Given the description of an element on the screen output the (x, y) to click on. 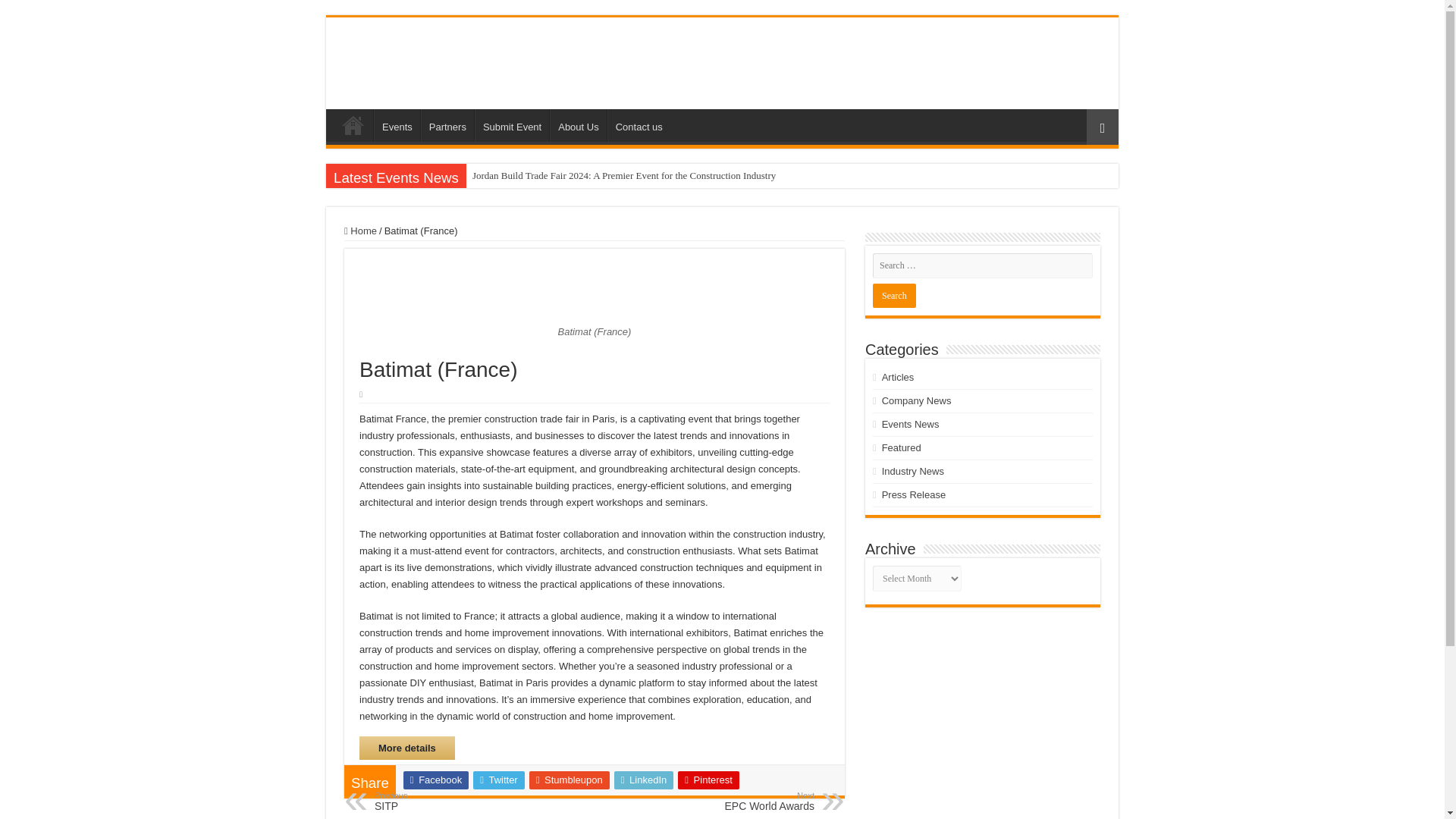
Contact us (638, 124)
Search (893, 295)
Home (352, 124)
More details (406, 748)
Featured (901, 447)
Events News (910, 423)
Stumbleupon (569, 780)
Home (360, 230)
Submit Event (511, 124)
LinkedIn (644, 780)
